Given the description of an element on the screen output the (x, y) to click on. 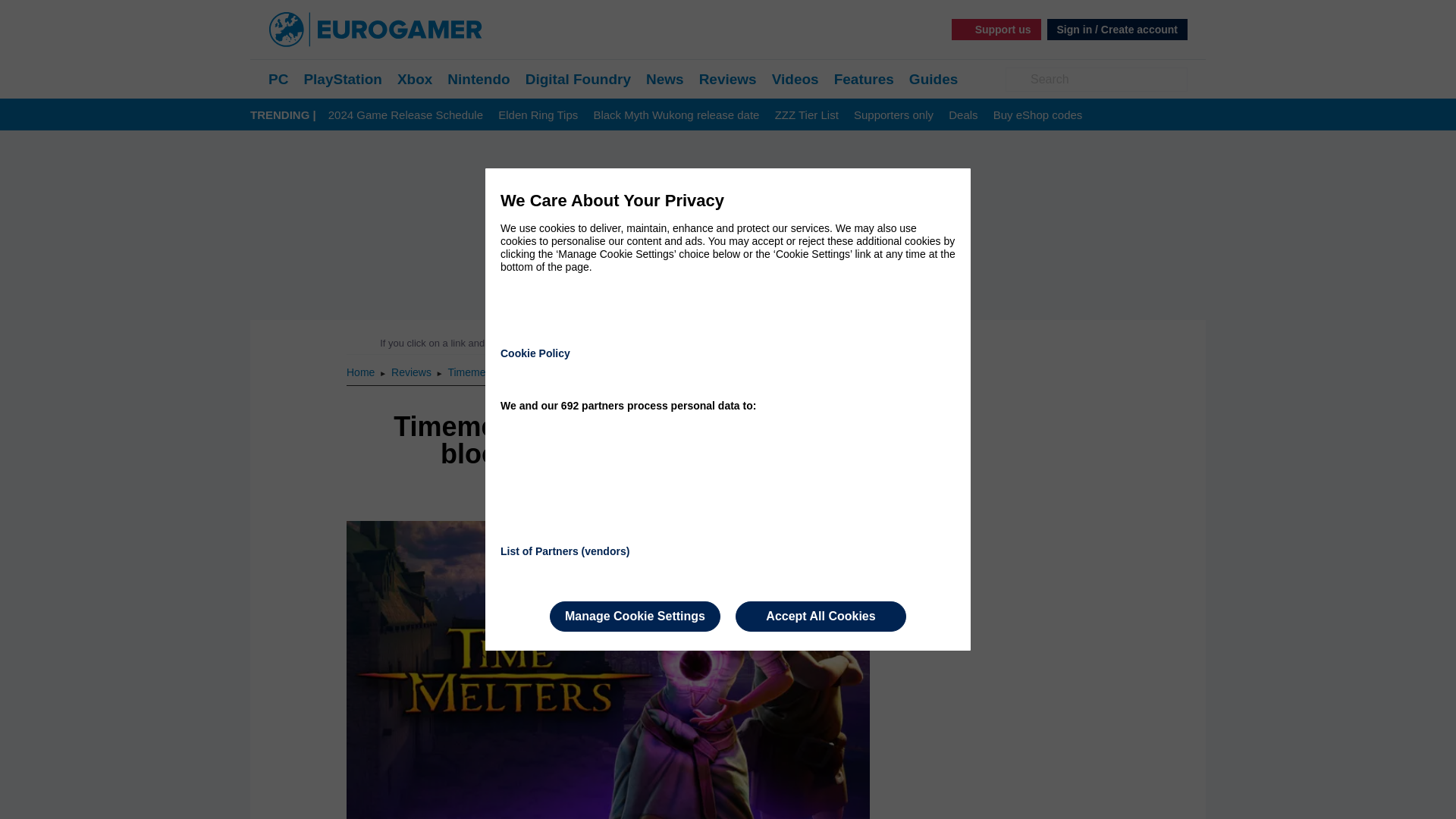
Elden Ring Tips (537, 114)
ZZZ Tier List (806, 114)
Reviews (412, 372)
Guides (933, 78)
Xbox (414, 78)
2024 Game Release Schedule (406, 114)
Timemelters (475, 372)
Digital Foundry (577, 78)
Buy eShop codes (1037, 114)
Timemelters (475, 372)
